Given the description of an element on the screen output the (x, y) to click on. 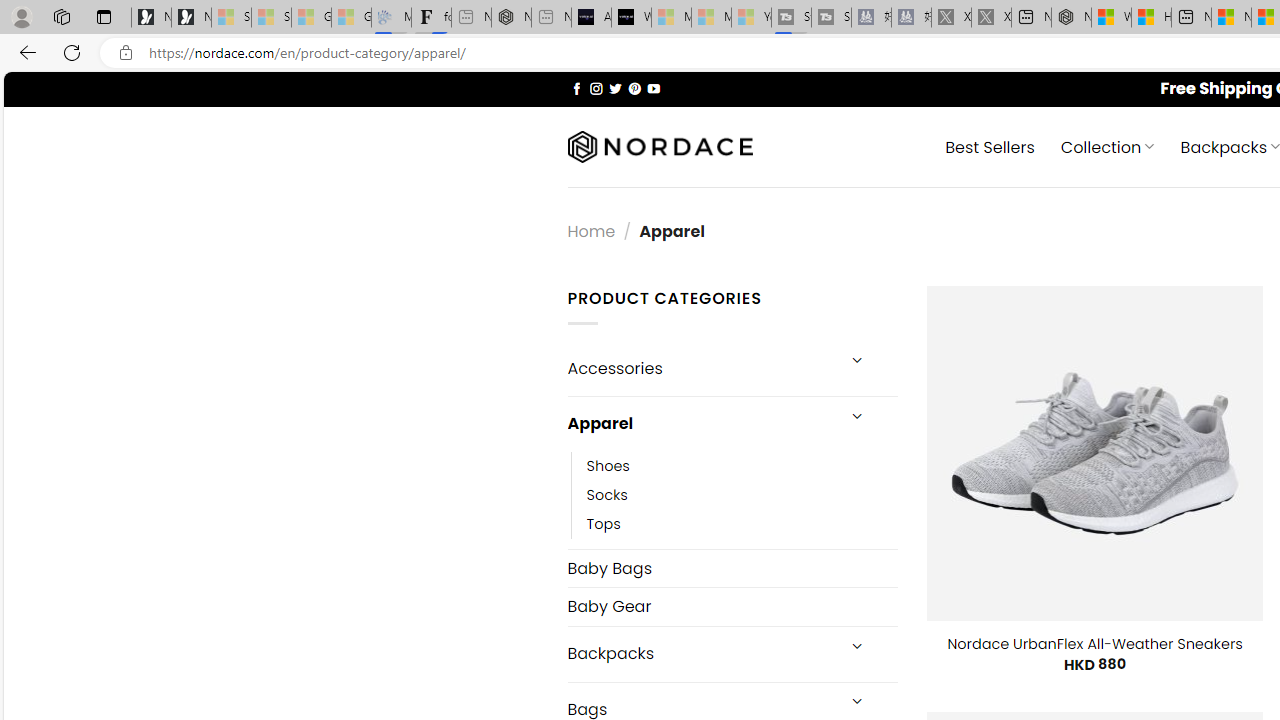
Backpacks (700, 654)
Socks (607, 494)
Shoes (742, 465)
Microsoft Start Sports - Sleeping (671, 17)
Nordace UrbanFlex All-Weather Sneakers (1094, 643)
